Given the description of an element on the screen output the (x, y) to click on. 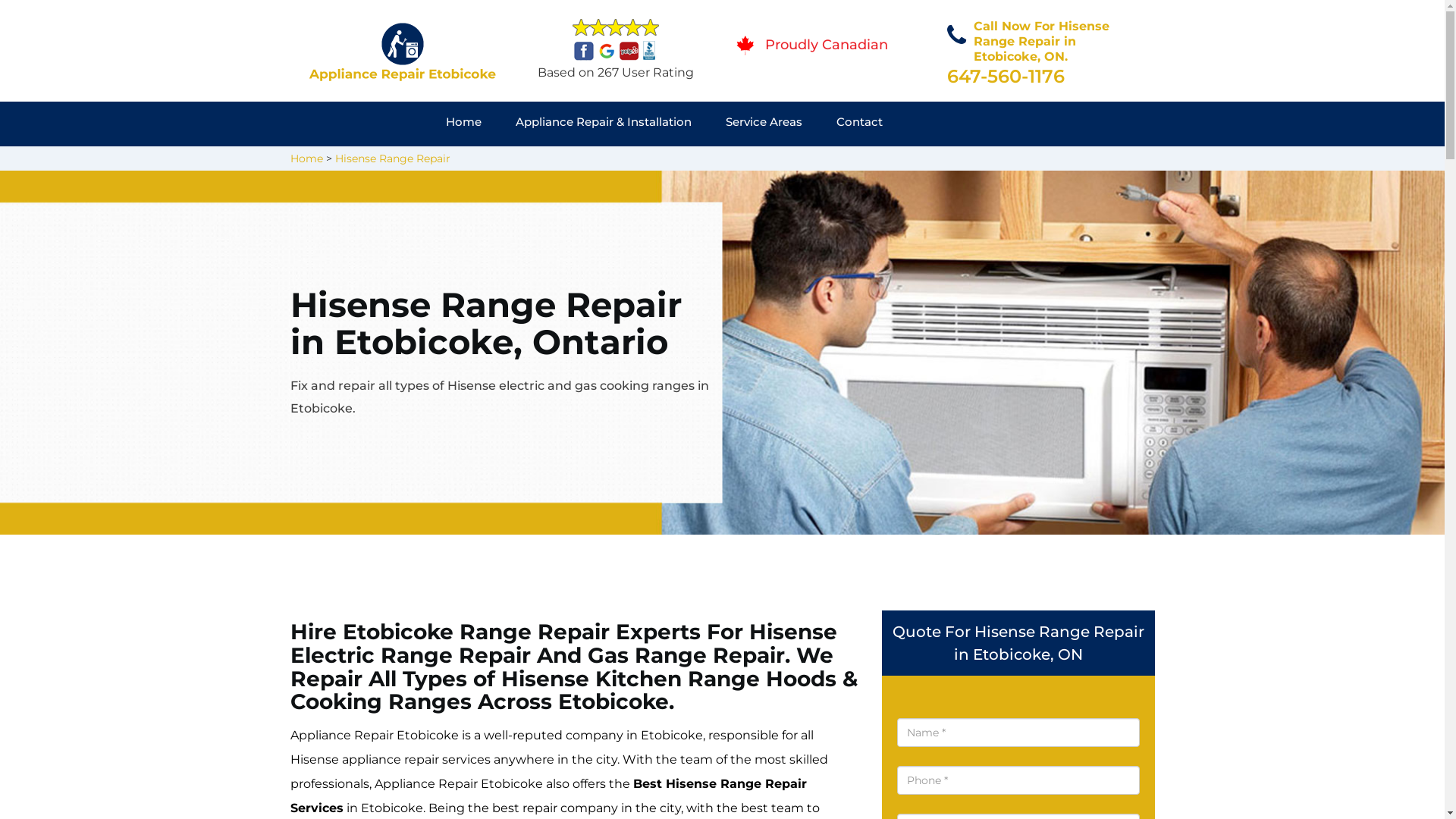
Kitchen Appliance Installation Element type: text (1091, 160)
Washing Machine Repair Element type: text (593, 160)
647-560-1176 Element type: text (1004, 76)
Microwave Repair Element type: text (823, 160)
Appliances Installation Element type: text (828, 160)
Washing Machine Installation Element type: text (844, 160)
Freezer Installation Element type: text (1069, 160)
Oven Repair Element type: text (804, 160)
Gas Stove Repair Element type: text (815, 160)
Residential Appliance Repair Element type: text (610, 160)
Gas Stove Installation Element type: text (817, 160)
Stove Repair Element type: text (564, 160)
Refrigerator Repair Element type: text (829, 160)
Service Areas Element type: text (780, 123)
Commercial Appliances Repair Element type: text (597, 160)
Dishwasher Installation Element type: text (573, 160)
Dryer Repair Element type: text (553, 160)
Commercial Appliances Installation Element type: text (869, 160)
Range Repair Element type: text (562, 160)
Oven Element Installation Element type: text (1085, 160)
Appliance Repair & Installation Element type: text (620, 123)
Range Installation Element type: text (1068, 160)
Residential Appliance Installation Element type: text (1099, 160)
Oven Installation Element type: text (1060, 160)
Oven Elements Replacement Element type: text (598, 160)
Stove Installation Element type: text (1056, 160)
Dishwasher Repair Element type: text (805, 160)
Hisense Range Repair Element type: text (392, 158)
Home Element type: text (305, 158)
Microwave Installation Element type: text (825, 160)
Contact Element type: text (876, 123)
Freezer Repair Element type: text (553, 160)
Refrigerator Installation Element type: text (1087, 160)
Kitchen Appliances Repair Element type: text (593, 160)
Home Element type: text (480, 123)
Dryer Installation Element type: text (1070, 160)
